Given the description of an element on the screen output the (x, y) to click on. 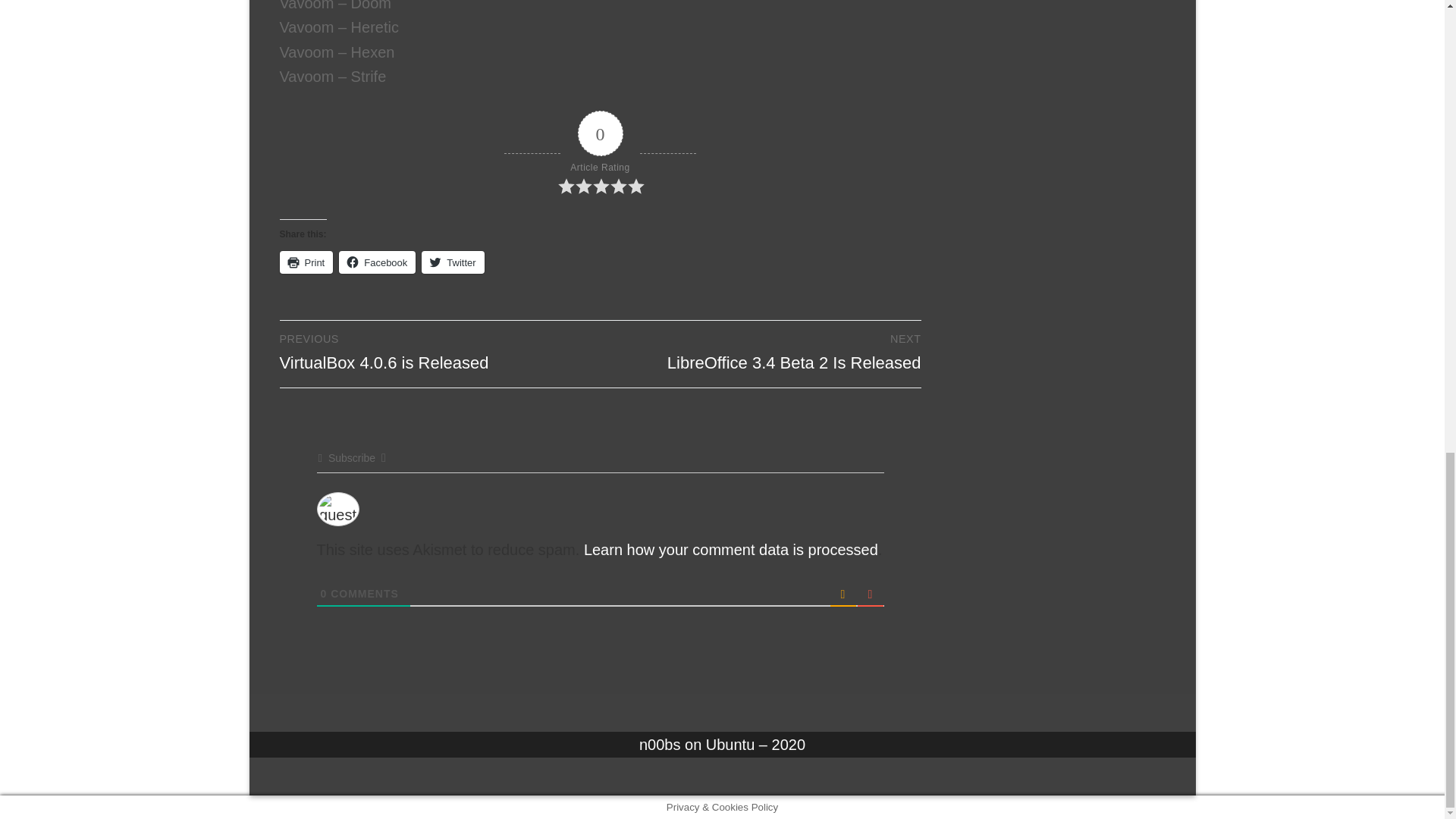
Click to share on Twitter (452, 261)
Click to share on Facebook (376, 261)
Click to print (306, 261)
